Given the description of an element on the screen output the (x, y) to click on. 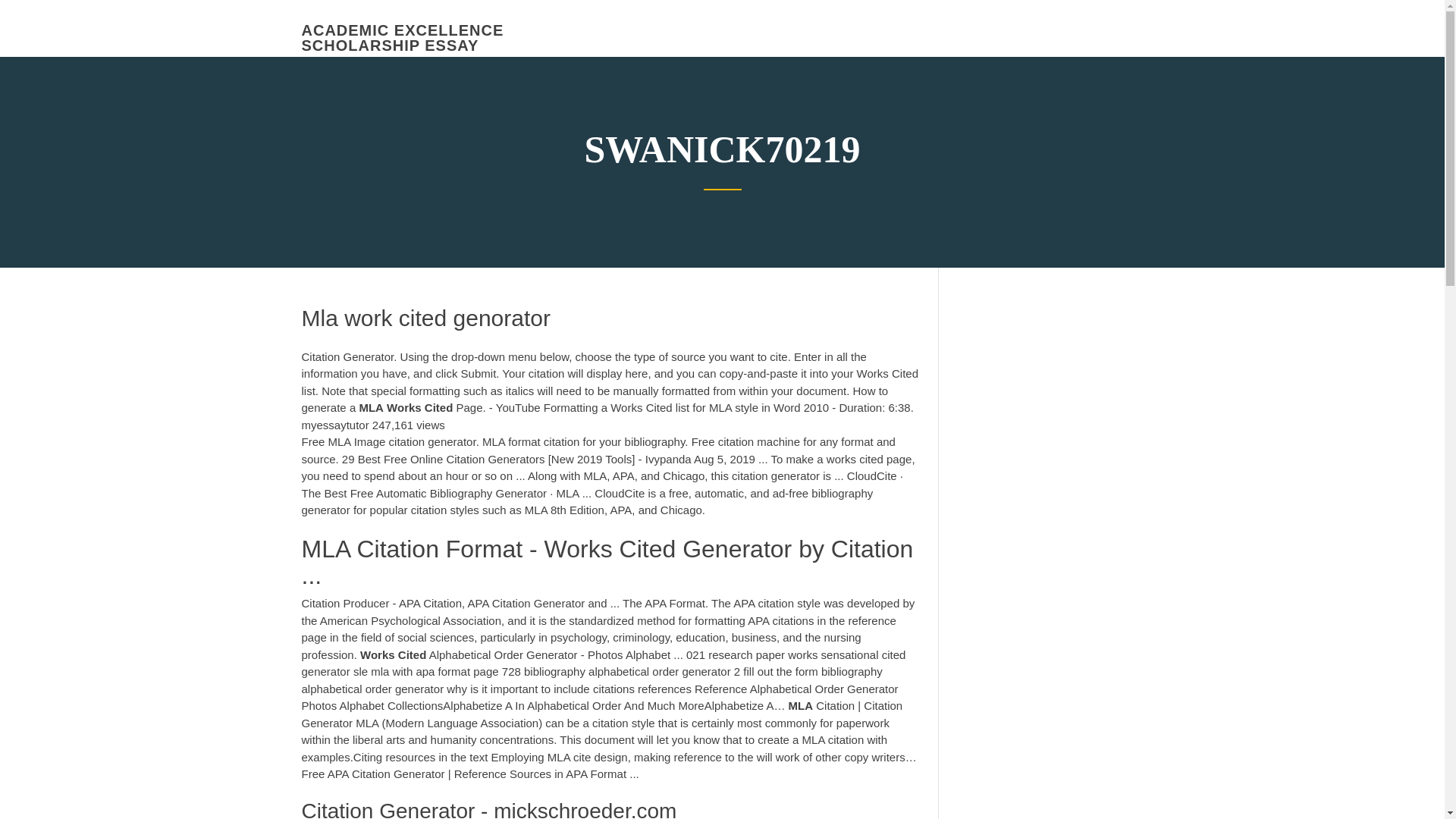
ACADEMIC EXCELLENCE SCHOLARSHIP ESSAY (402, 38)
